Given the description of an element on the screen output the (x, y) to click on. 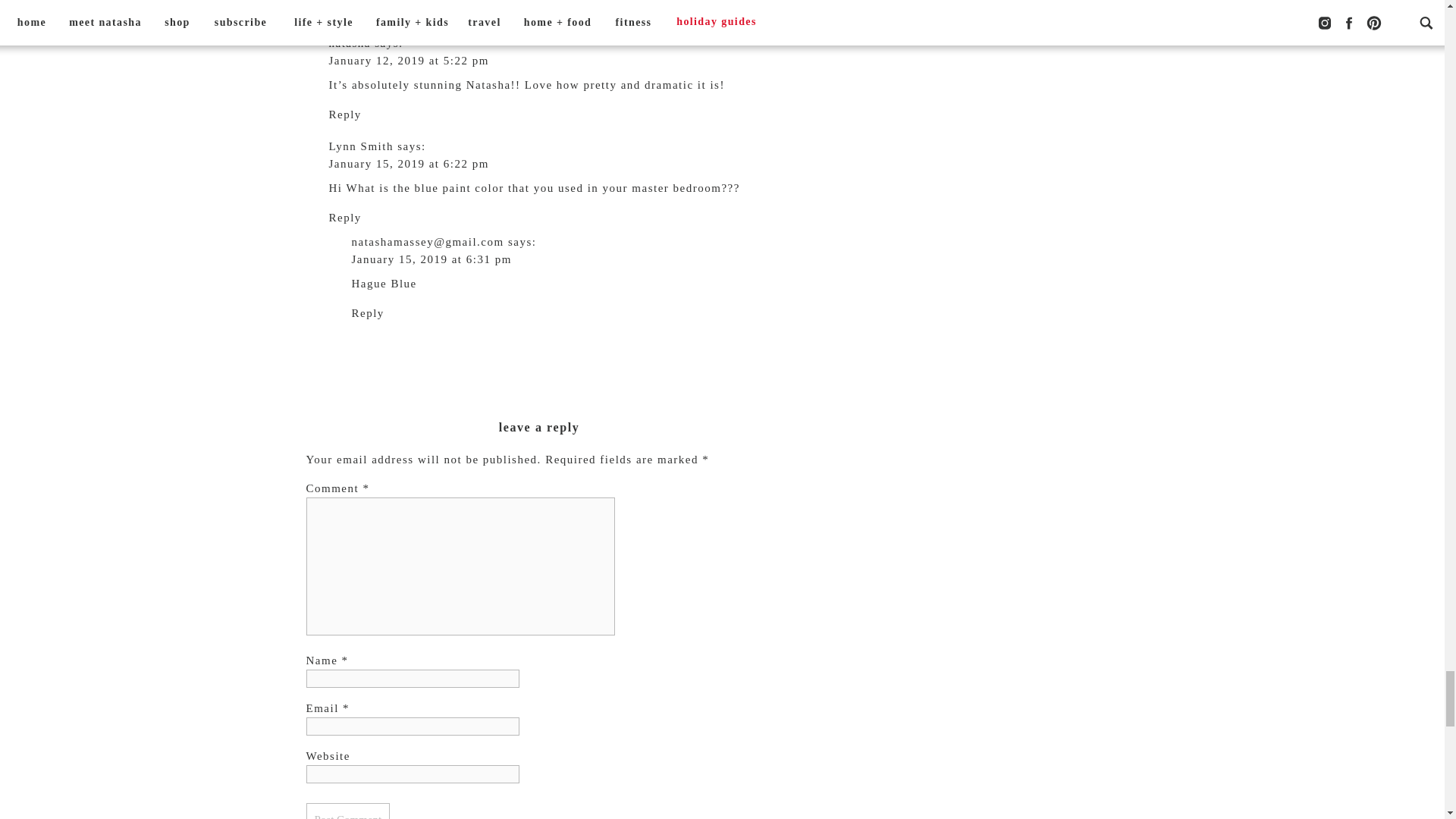
Post Comment (347, 811)
